Given the description of an element on the screen output the (x, y) to click on. 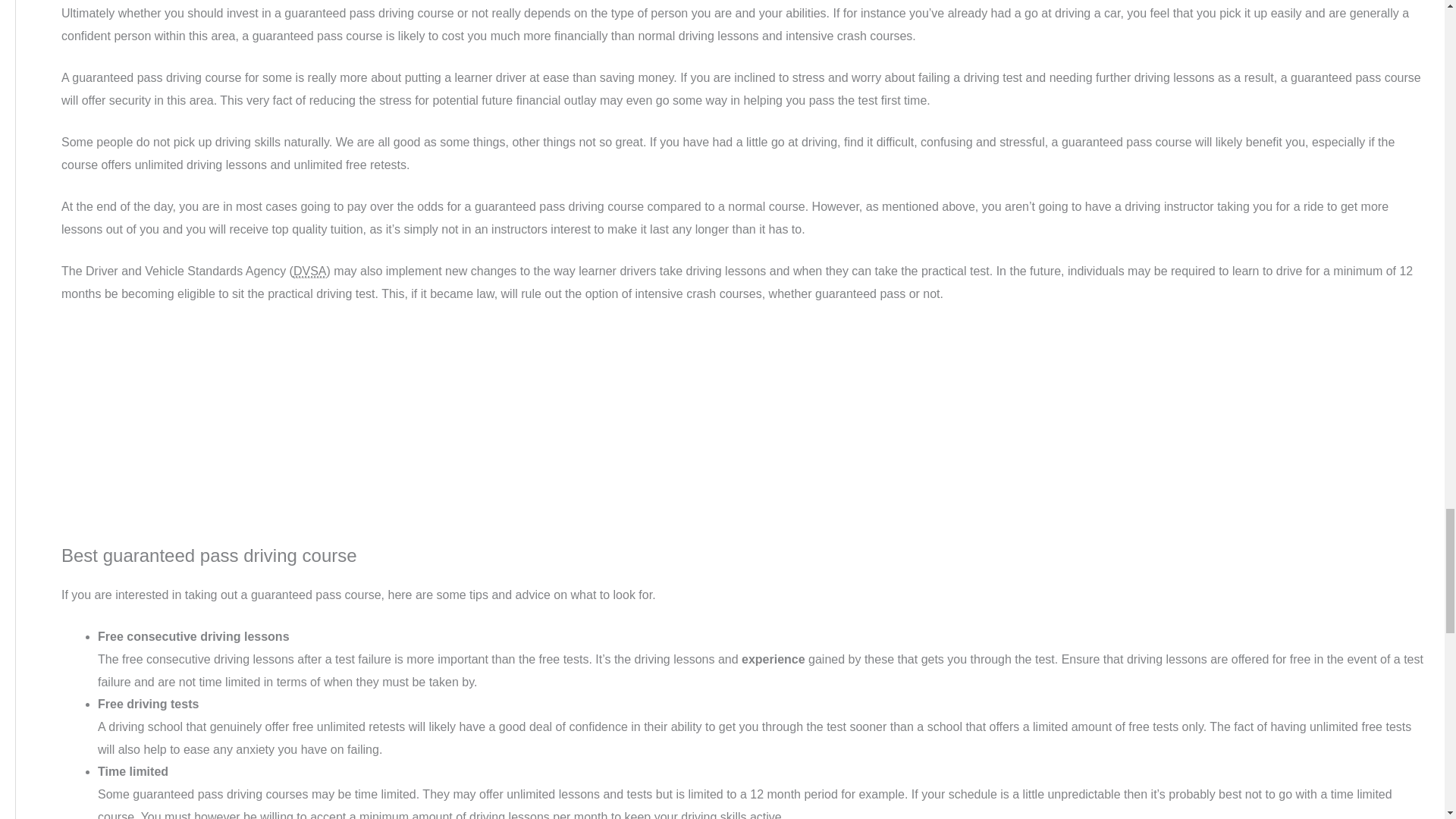
Driver and Vehicle Standards Agency (310, 271)
